Given the description of an element on the screen output the (x, y) to click on. 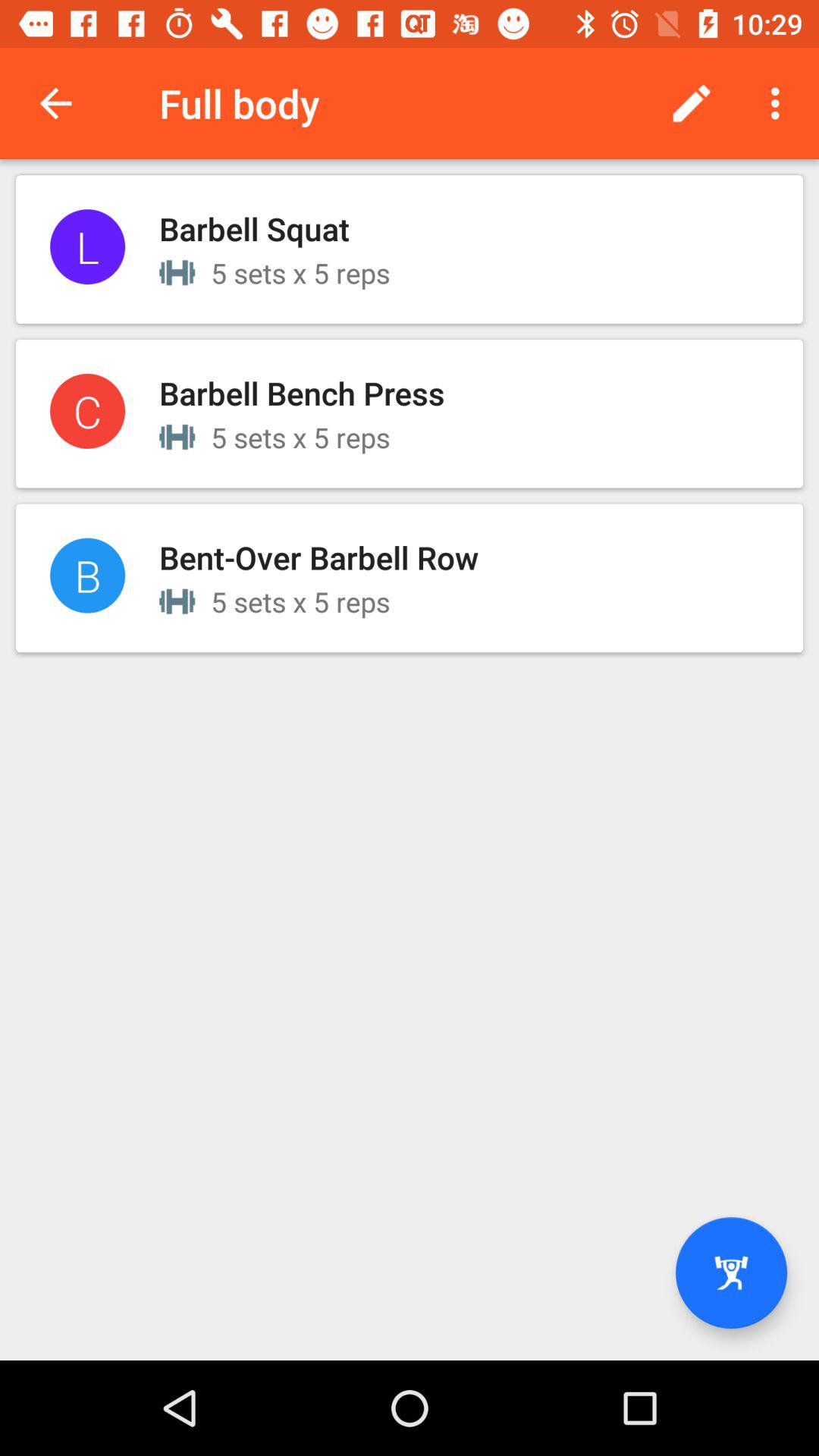
press item next to the full body item (691, 103)
